Given the description of an element on the screen output the (x, y) to click on. 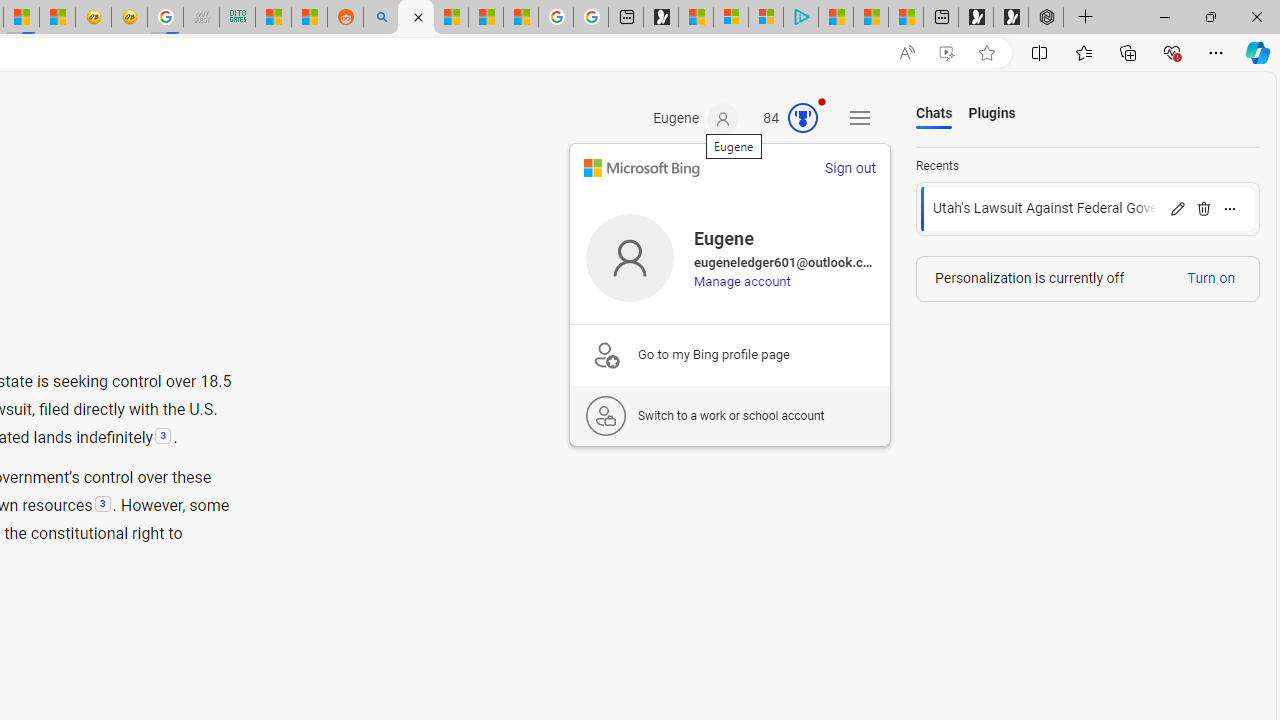
Go to my Bing profile page (729, 354)
Chats (934, 113)
Load chat (1087, 209)
Microsoft Rewards 84 (783, 119)
Bing Pages Upsell Logo (605, 354)
AutomationID: rh_meter (803, 117)
